Given the description of an element on the screen output the (x, y) to click on. 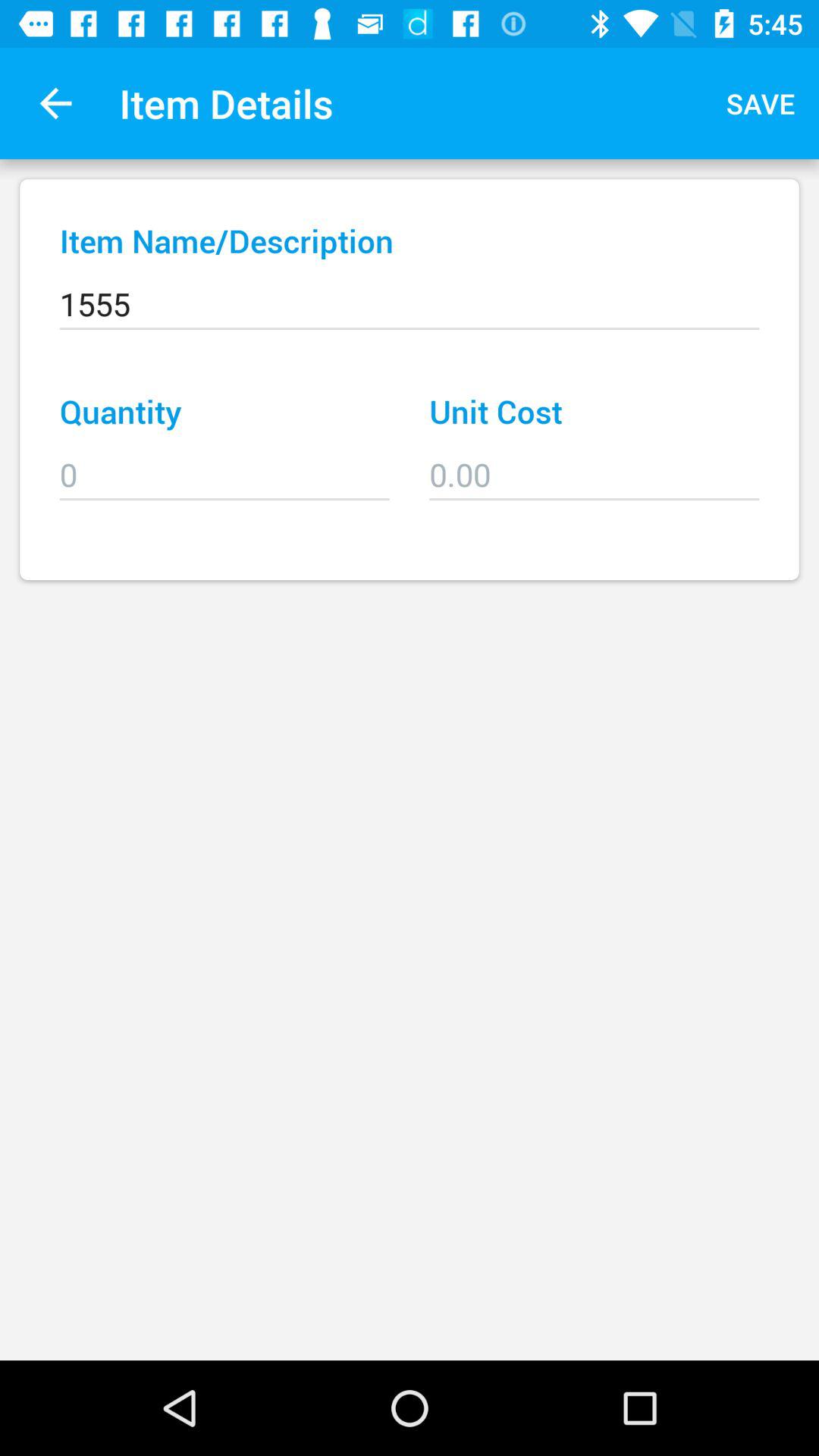
flip to the save item (760, 103)
